Given the description of an element on the screen output the (x, y) to click on. 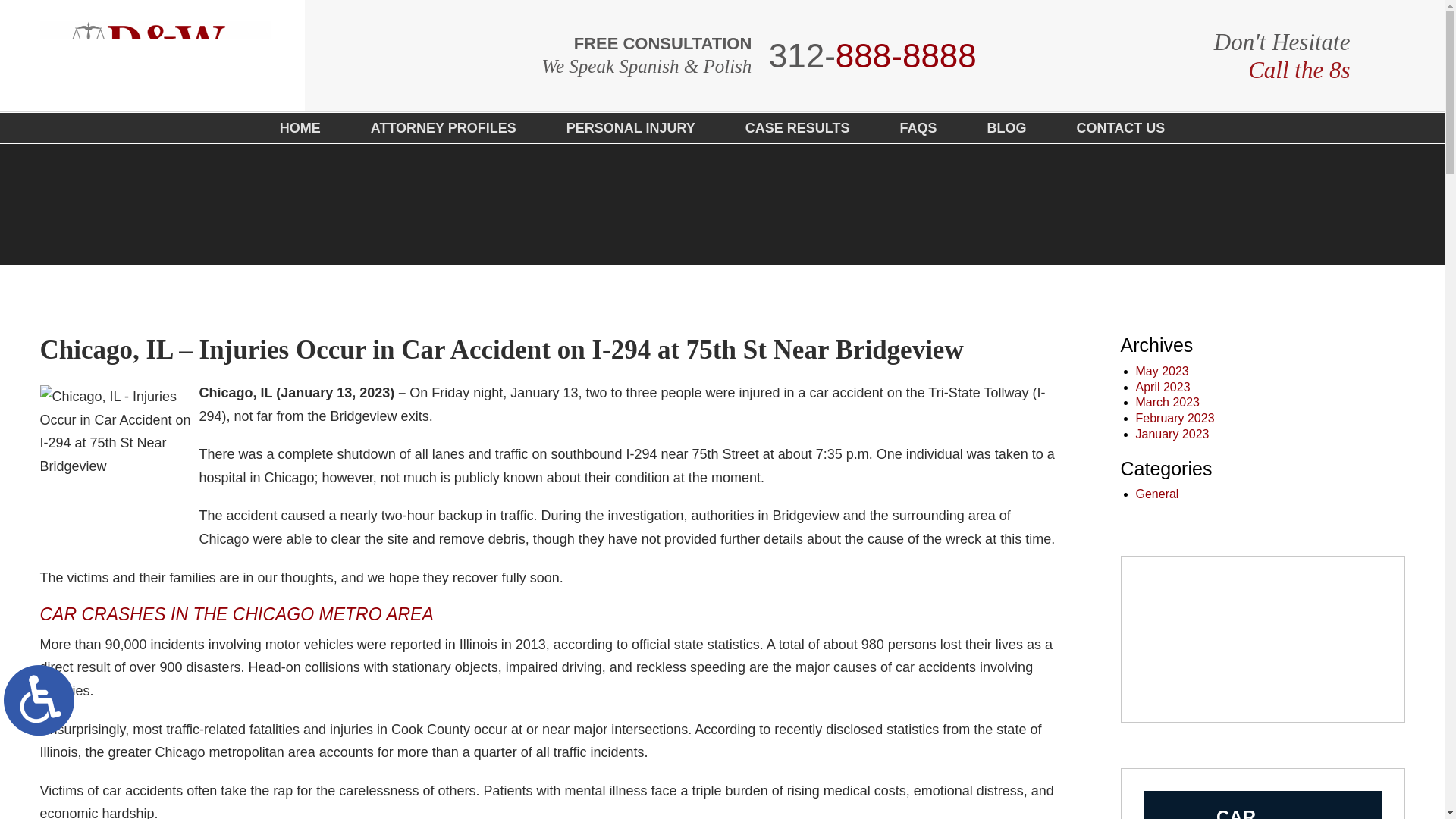
March 2023 (1167, 401)
PERSONAL INJURY (631, 128)
BLOG (1006, 128)
January 2023 (1172, 433)
General (1157, 493)
ATTORNEY PROFILES (443, 128)
FAQS (918, 128)
Firm Video (1262, 638)
April 2023 (1163, 386)
February 2023 (1261, 805)
312-888-8888 (1174, 418)
May 2023 (872, 55)
CASE RESULTS (1162, 370)
